Given the description of an element on the screen output the (x, y) to click on. 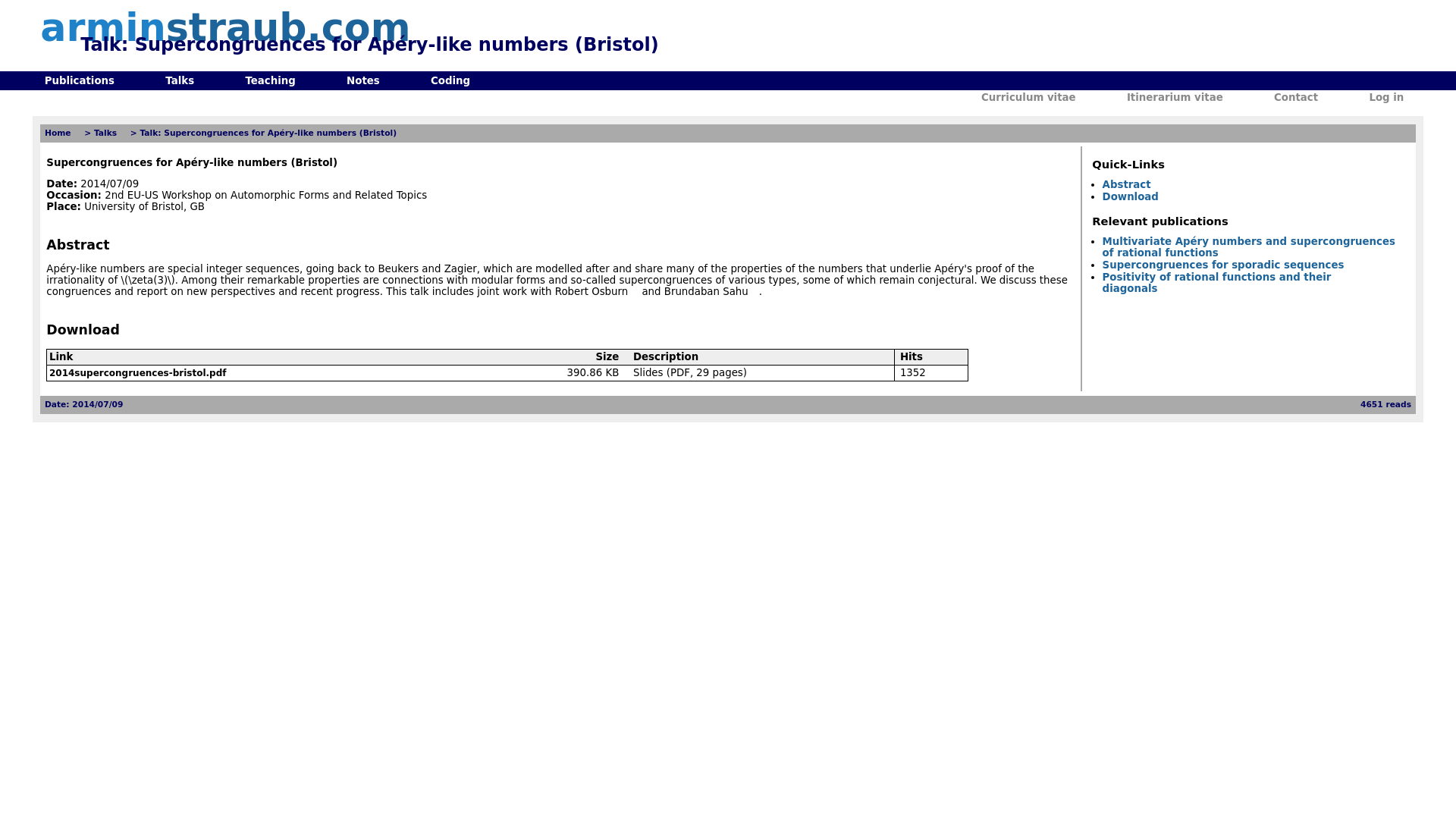
Supercongruences for sporadic sequences (1228, 265)
Talks (185, 80)
Robert Osburn (596, 291)
Teaching (274, 80)
Home (63, 132)
Coding (455, 80)
Brundaban Sahu (710, 291)
Notes (368, 80)
2014supercongruences-bristol.pdf (143, 372)
Curriculum vitae (1033, 97)
